Given the description of an element on the screen output the (x, y) to click on. 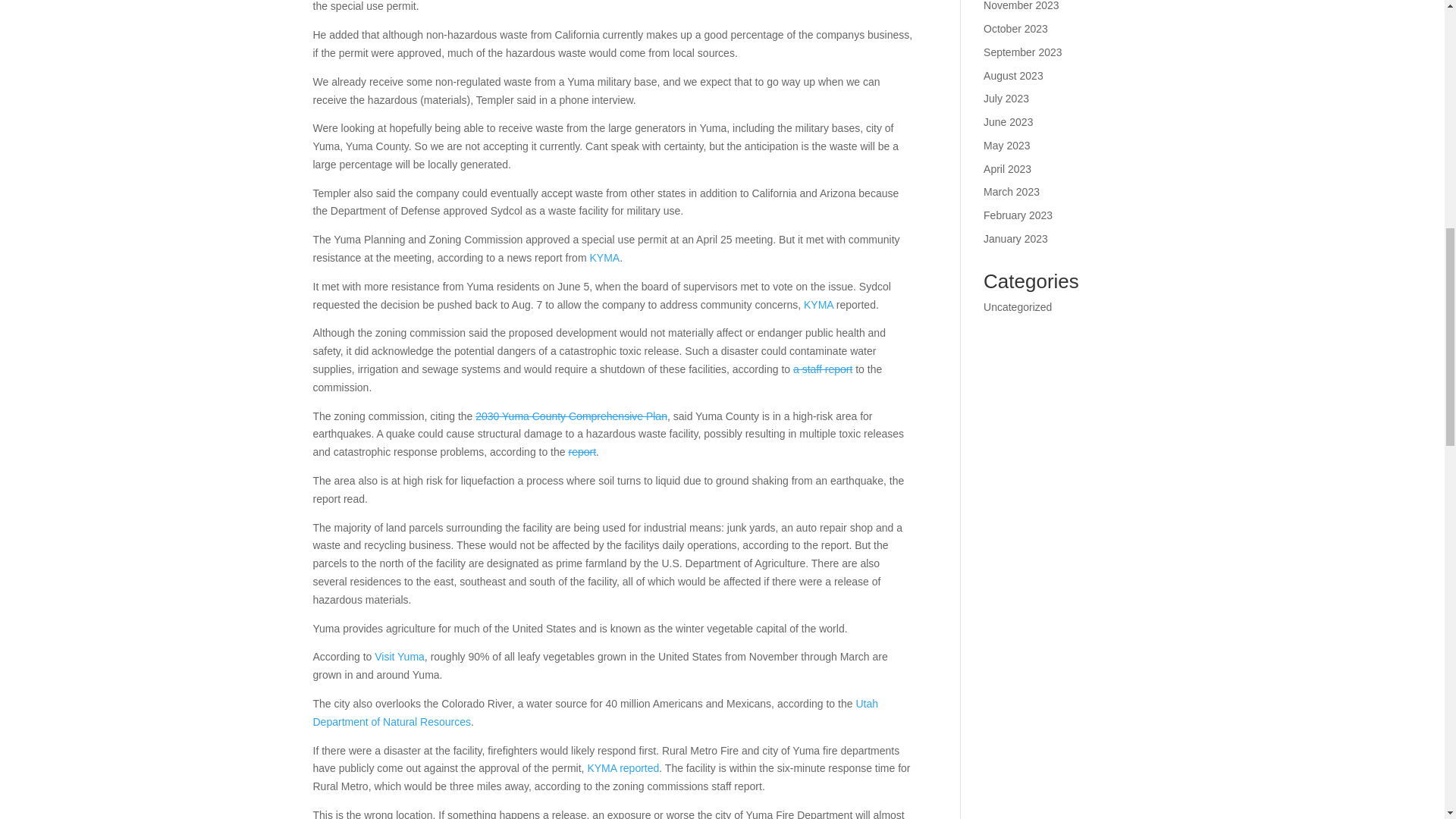
Visit Yuma (399, 656)
KYMA (604, 257)
2030 Yuma County Comprehensive Plan (571, 416)
report (581, 451)
October 2023 (1016, 28)
KYMA reported (622, 767)
Utah Department of Natural Resources (595, 712)
September 2023 (1023, 51)
a staff report (822, 369)
KYMA (817, 304)
November 2023 (1021, 5)
